Given the description of an element on the screen output the (x, y) to click on. 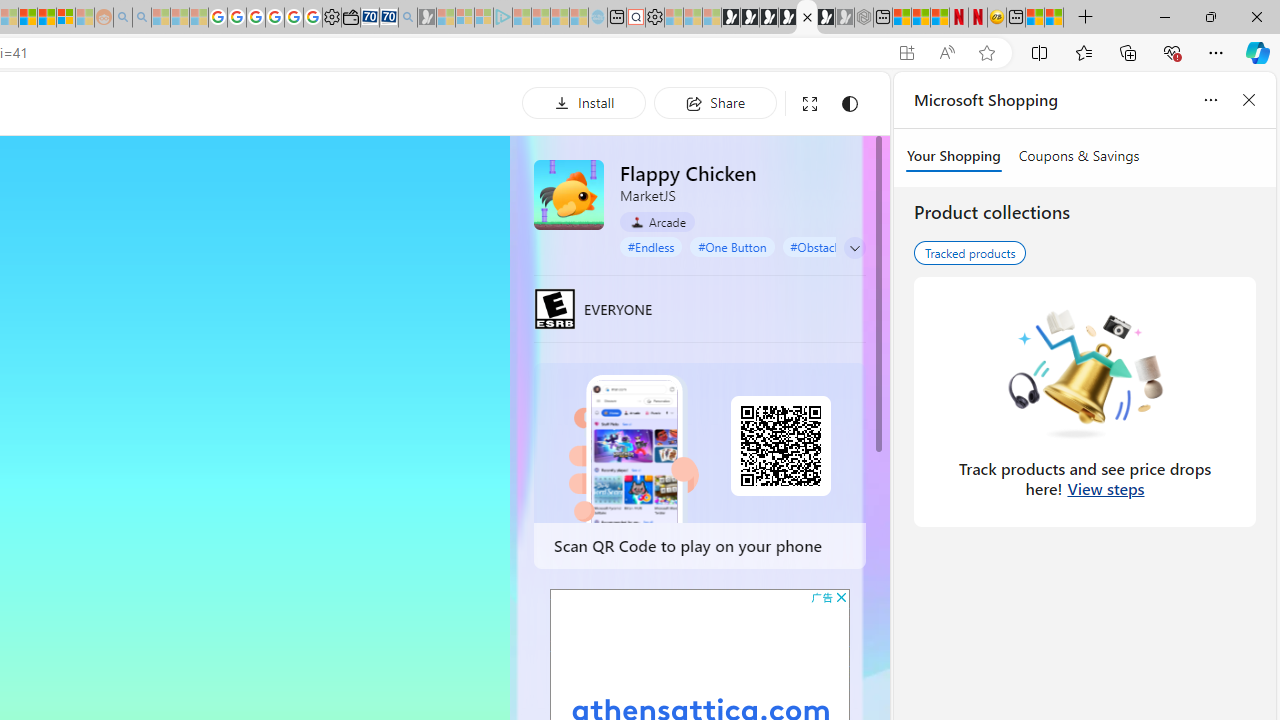
Class: expand-arrow neutral (854, 247)
#Endless (651, 246)
AutomationID: cbb (841, 596)
Arcade (657, 222)
